Given the description of an element on the screen output the (x, y) to click on. 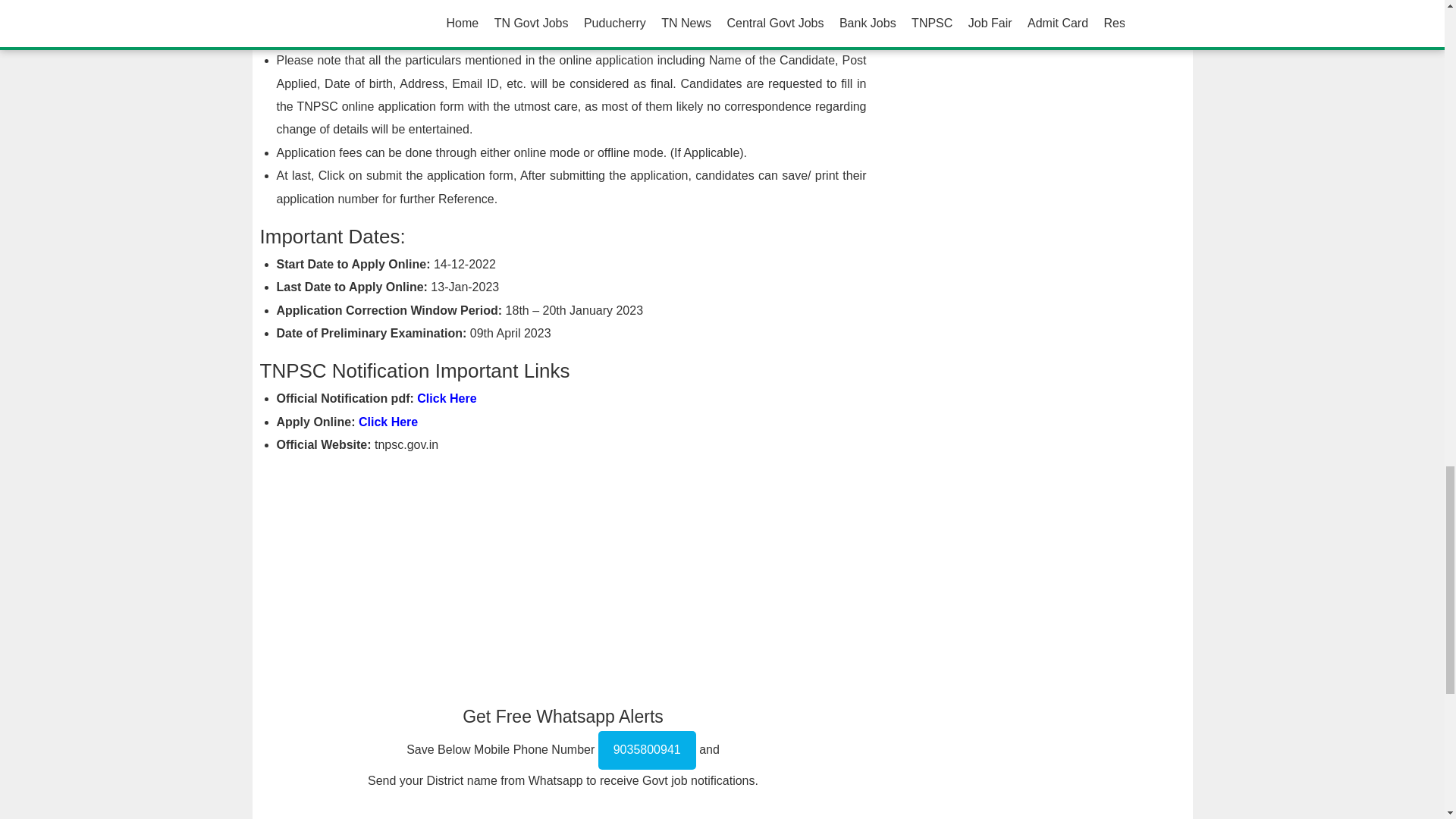
Click Here (446, 398)
Advertisement (562, 574)
Click Here (387, 421)
